Given the description of an element on the screen output the (x, y) to click on. 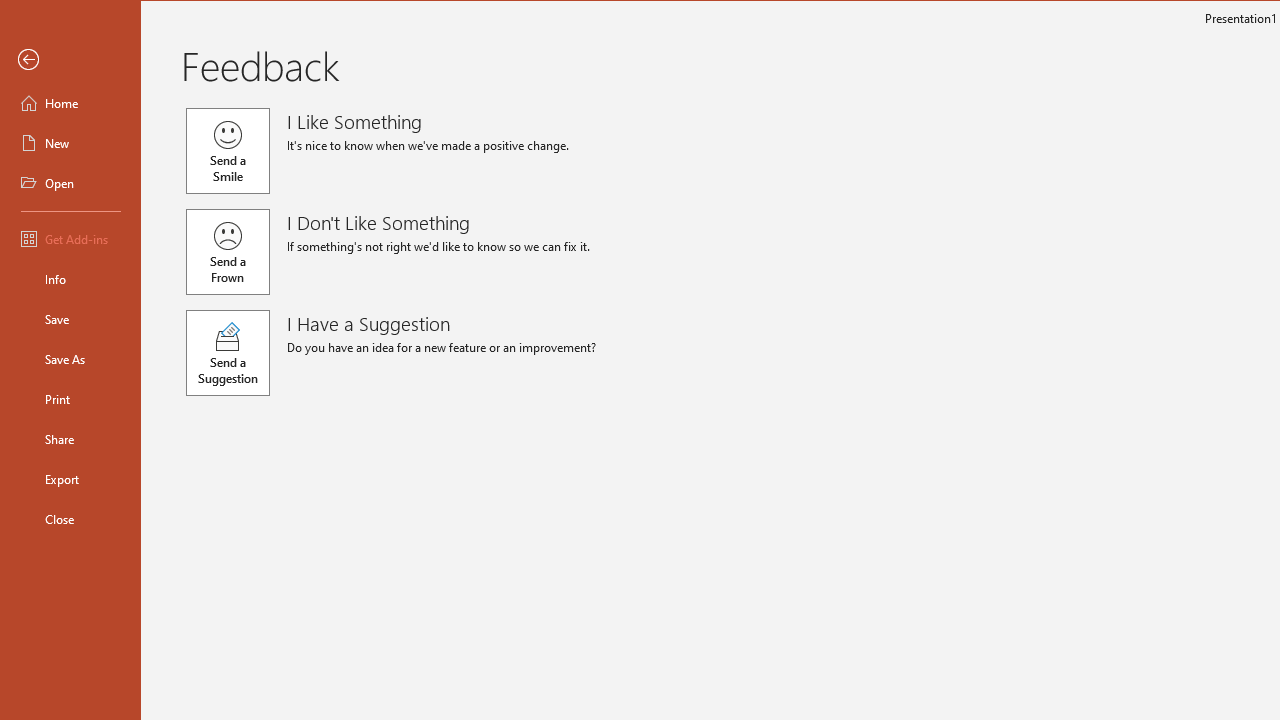
Print (70, 398)
Back (70, 60)
Send a Suggestion (227, 353)
New (70, 142)
Send a Smile (227, 150)
Export (70, 478)
Send a Frown (227, 251)
Save As (70, 358)
